Given the description of an element on the screen output the (x, y) to click on. 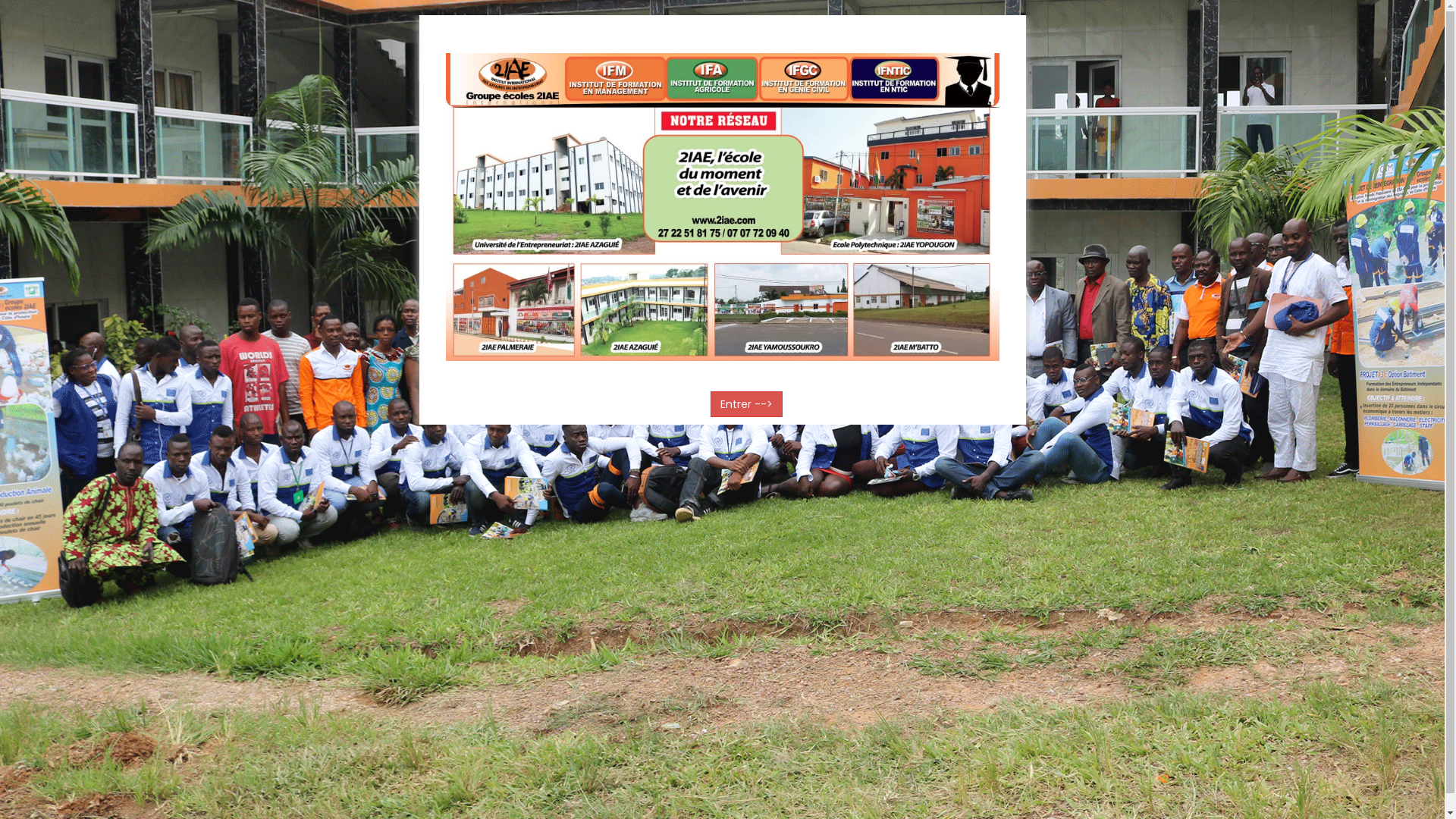
Entrer --> Element type: text (746, 404)
